Given the description of an element on the screen output the (x, y) to click on. 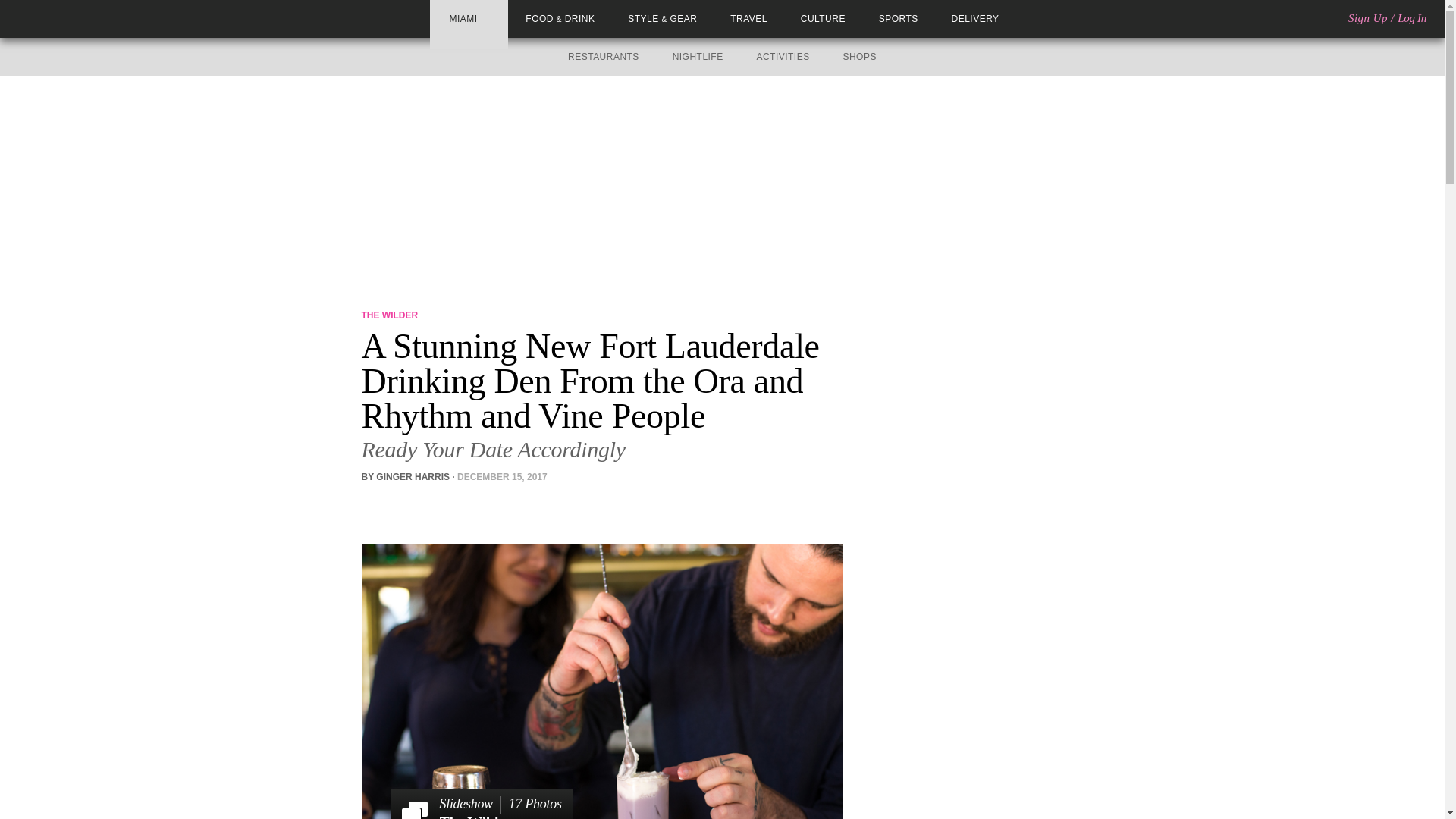
Pinterest (414, 504)
UrbanDaddy (67, 18)
SPORTS (898, 18)
CULTURE (822, 18)
SHOPS (859, 56)
NIGHTLIFE (697, 56)
Save (437, 504)
Sign Up (1367, 18)
ACTIVITIES (782, 56)
